Given the description of an element on the screen output the (x, y) to click on. 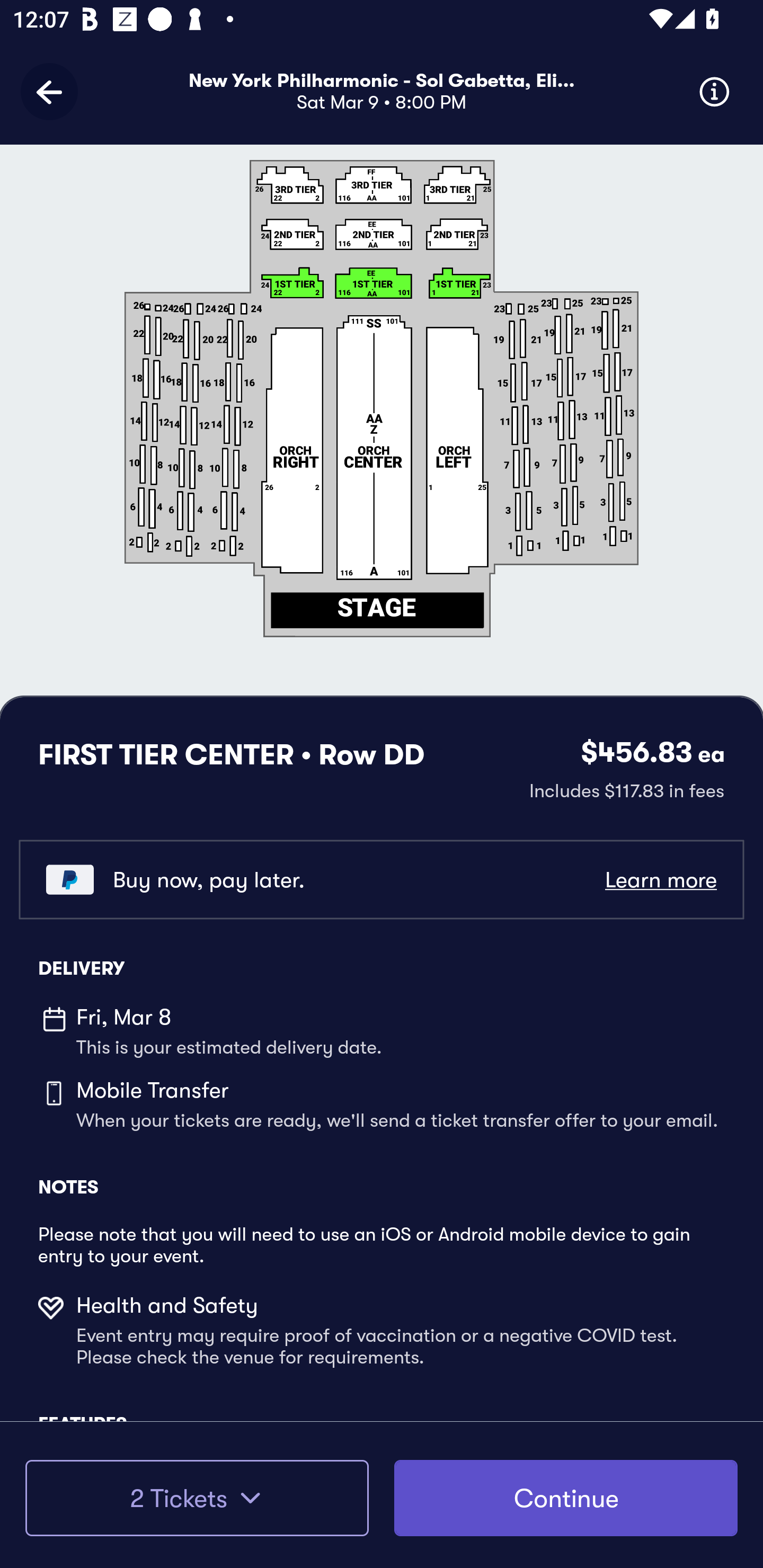
Learn more (660, 880)
2 Tickets (196, 1497)
Continue (565, 1497)
